Given the description of an element on the screen output the (x, y) to click on. 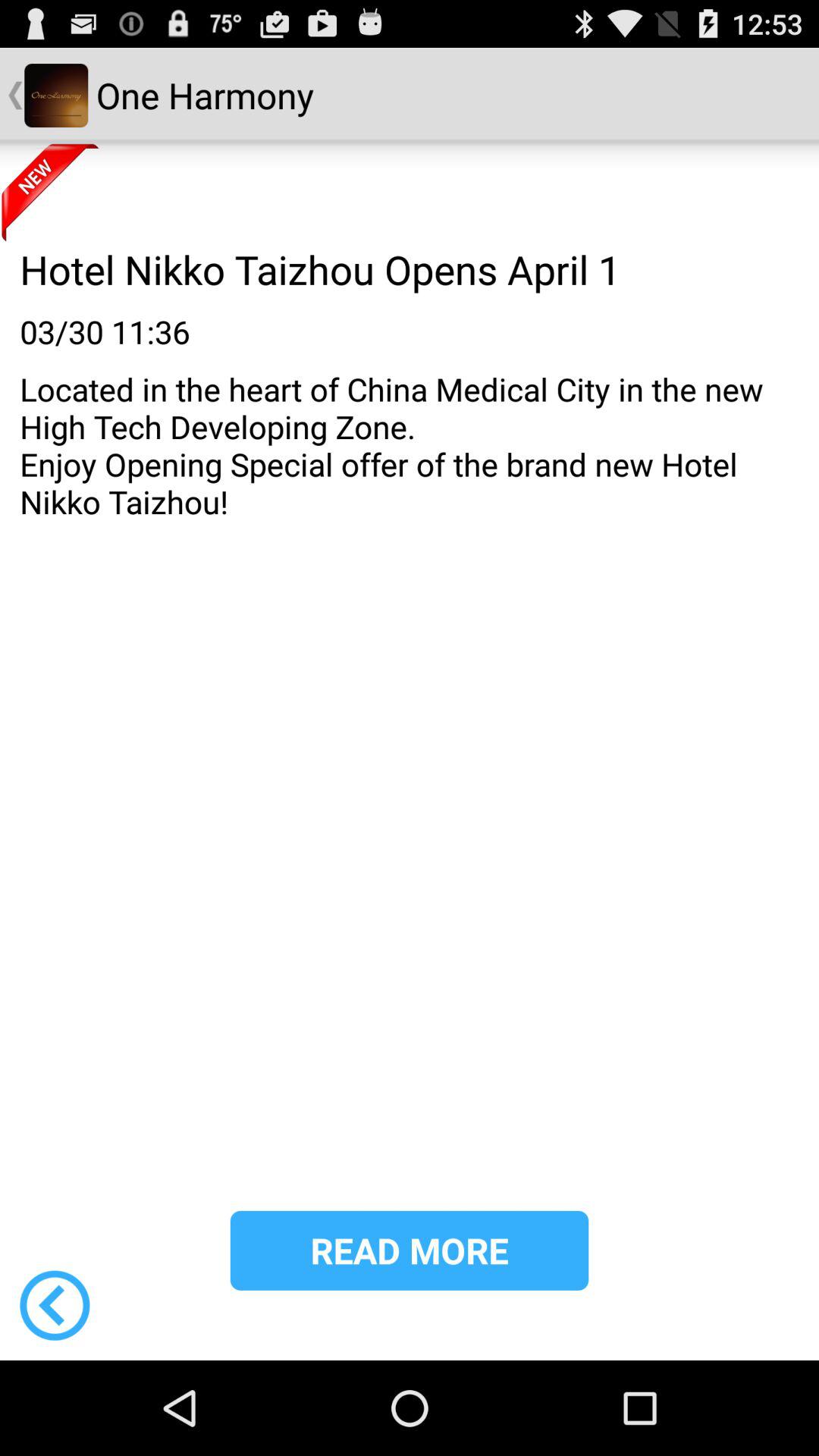
turn on the icon next to the read more button (54, 1305)
